Given the description of an element on the screen output the (x, y) to click on. 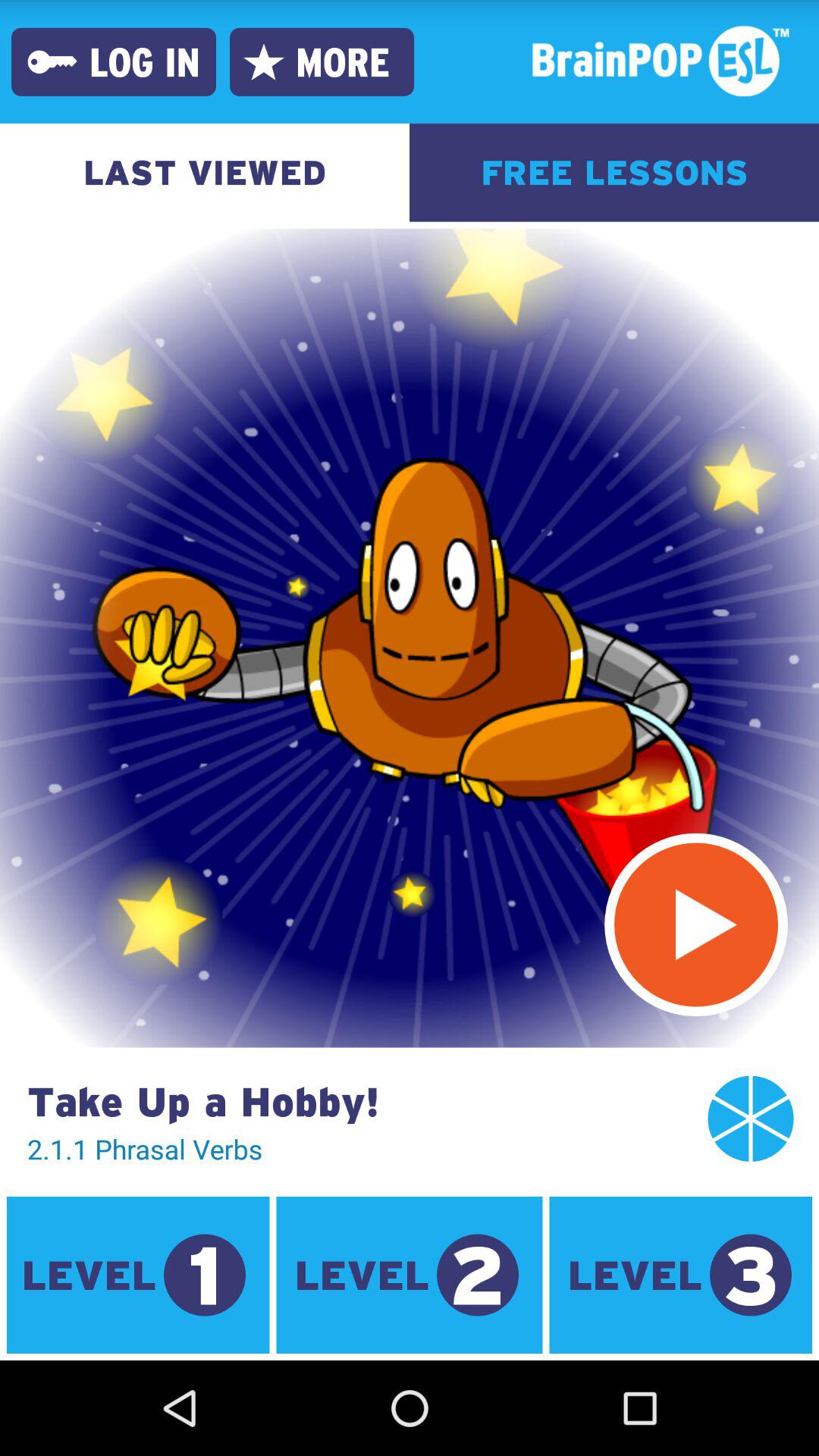
click on the key icon (52, 61)
move to icon which is right to login (263, 61)
